Given the description of an element on the screen output the (x, y) to click on. 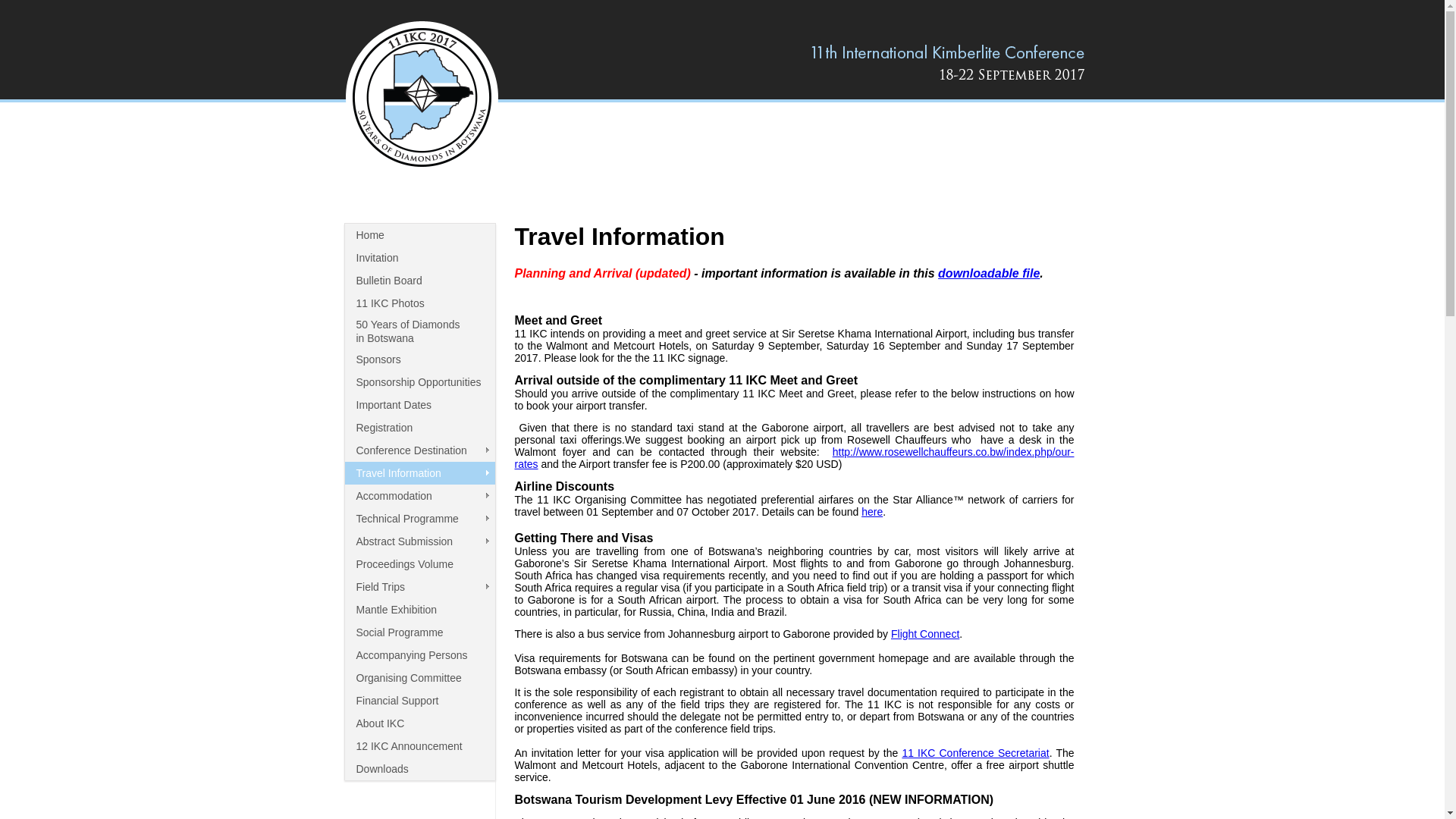
Conference Destination Element type: text (419, 450)
Organising Committee Element type: text (419, 677)
Field Trips Element type: text (419, 586)
Registration Element type: text (419, 427)
Abstract Submission Element type: text (419, 541)
Sponsors Element type: text (419, 359)
12 IKC Announcement Element type: text (419, 745)
downloadable file Element type: text (988, 272)
50 Years of Diamonds
in Botswana Element type: text (419, 331)
About IKC Element type: text (419, 723)
Downloads Element type: text (419, 768)
Mantle Exhibition Element type: text (419, 609)
11 IKC Photos Element type: text (419, 302)
Travel Information Element type: text (419, 472)
Invitation Element type: text (419, 257)
Social Programme Element type: text (419, 632)
Technical Programme Element type: text (419, 518)
Proceedings Volume Element type: text (419, 563)
Flight Connect Element type: text (925, 633)
Important Dates Element type: text (419, 404)
Home Element type: text (419, 234)
Sponsorship Opportunities Element type: text (419, 381)
Accompanying Persons Element type: text (419, 654)
Accommodation Element type: text (419, 495)
Financial Support Element type: text (419, 700)
here Element type: text (871, 511)
http://www.rosewellchauffeurs.co.bw/index.php/our-rates Element type: text (793, 457)
Bulletin Board Element type: text (419, 280)
11 IKC Conference Secretariat Element type: text (974, 752)
